Given the description of an element on the screen output the (x, y) to click on. 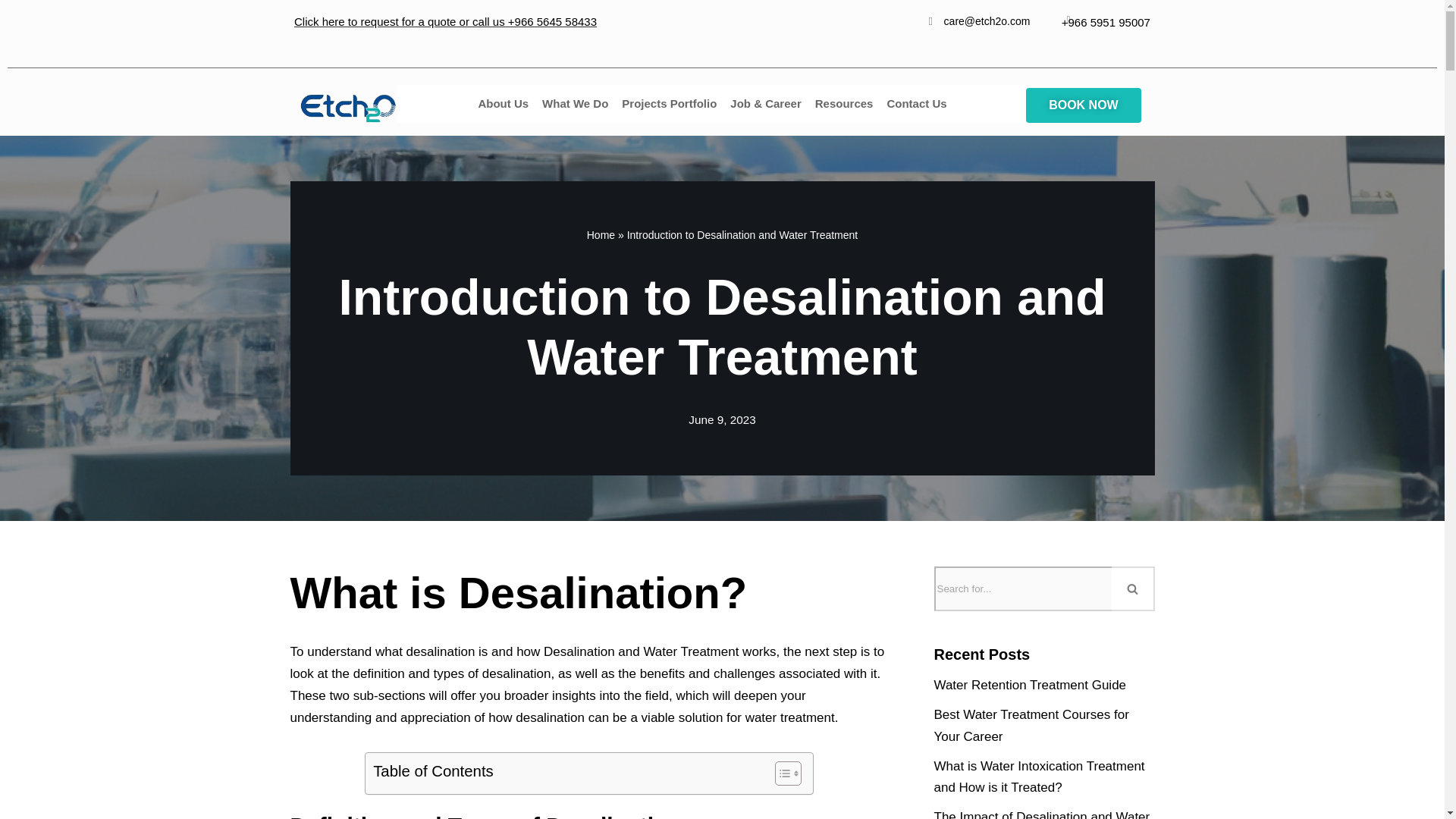
Contact Us (916, 103)
Skip to content (11, 31)
Resources (844, 103)
What We Do (574, 103)
Projects Portfolio (668, 103)
BOOK NOW (1083, 104)
About Us (502, 103)
